Given the description of an element on the screen output the (x, y) to click on. 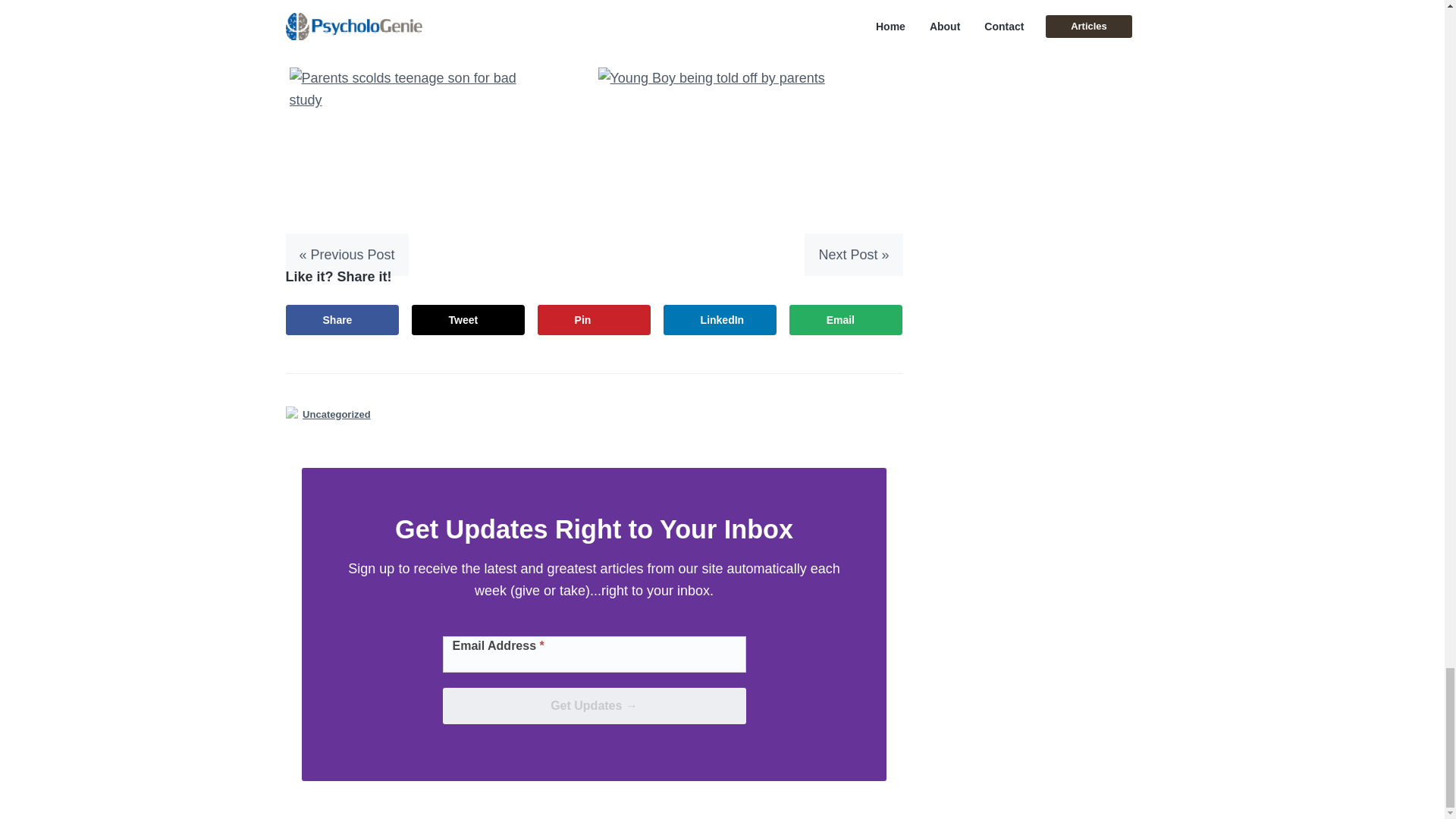
Email (845, 319)
Save to Pinterest (593, 319)
Tweet (468, 319)
Share (341, 319)
Share on Facebook (341, 319)
Uncategorized (336, 414)
Share on X (468, 319)
Share on LinkedIn (720, 319)
Send over email (845, 319)
Pin (593, 319)
